Given the description of an element on the screen output the (x, y) to click on. 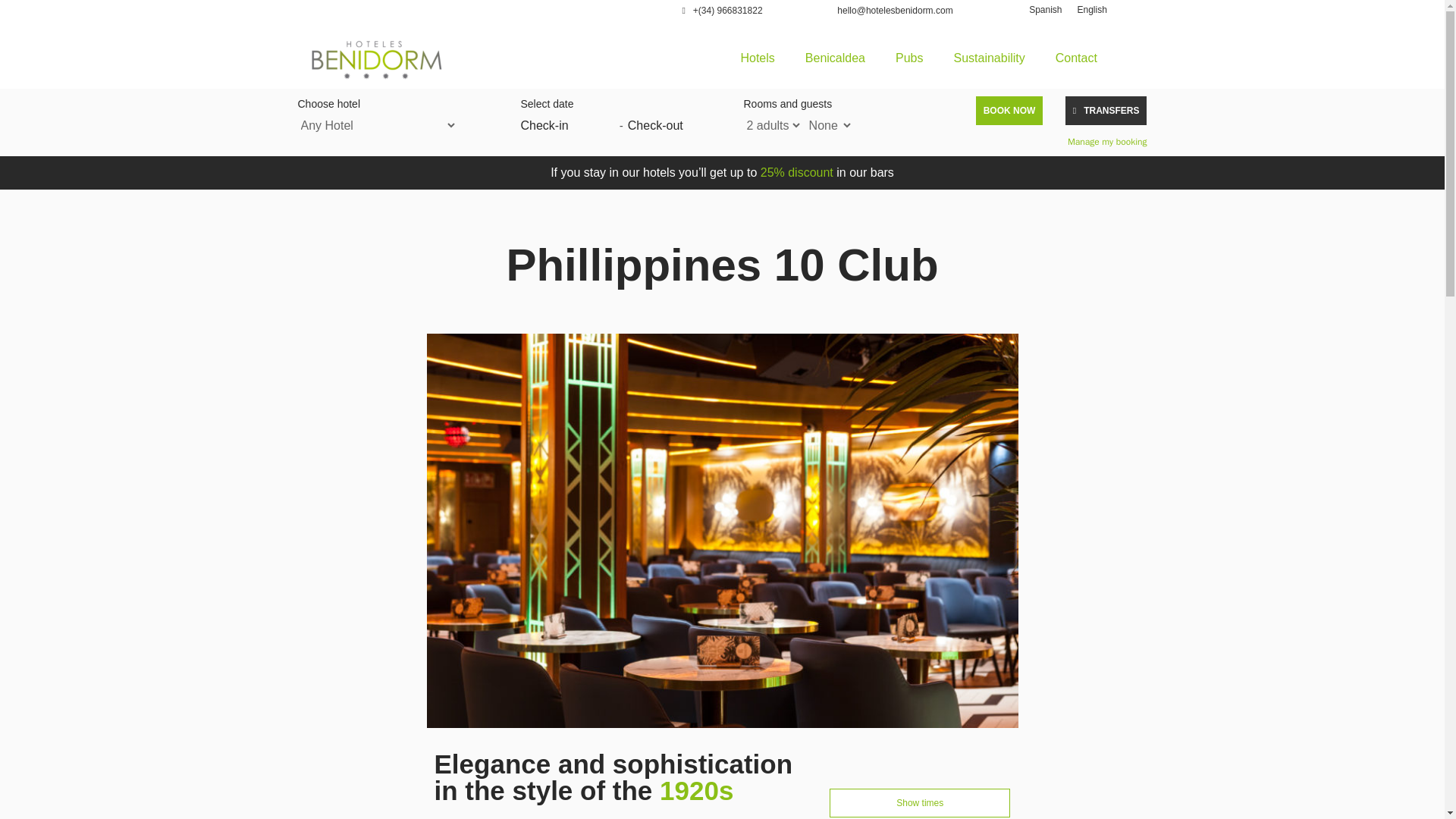
Spanish (1045, 9)
Benicaldea (835, 58)
Sustainability (988, 58)
English (1090, 9)
Book now (1009, 110)
Contact (1076, 58)
Check-in (567, 126)
Hotels (757, 58)
Pubs (908, 58)
Check-out (675, 126)
